Given the description of an element on the screen output the (x, y) to click on. 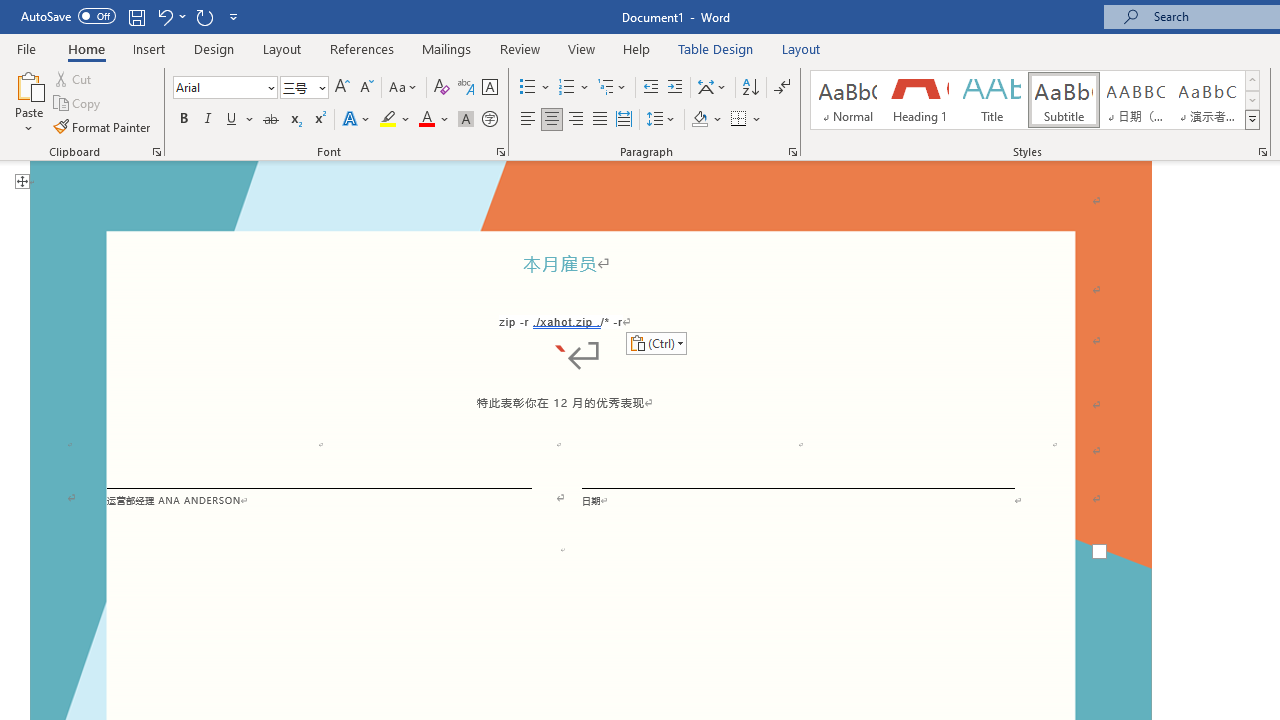
Undo Paste (170, 15)
